Given the description of an element on the screen output the (x, y) to click on. 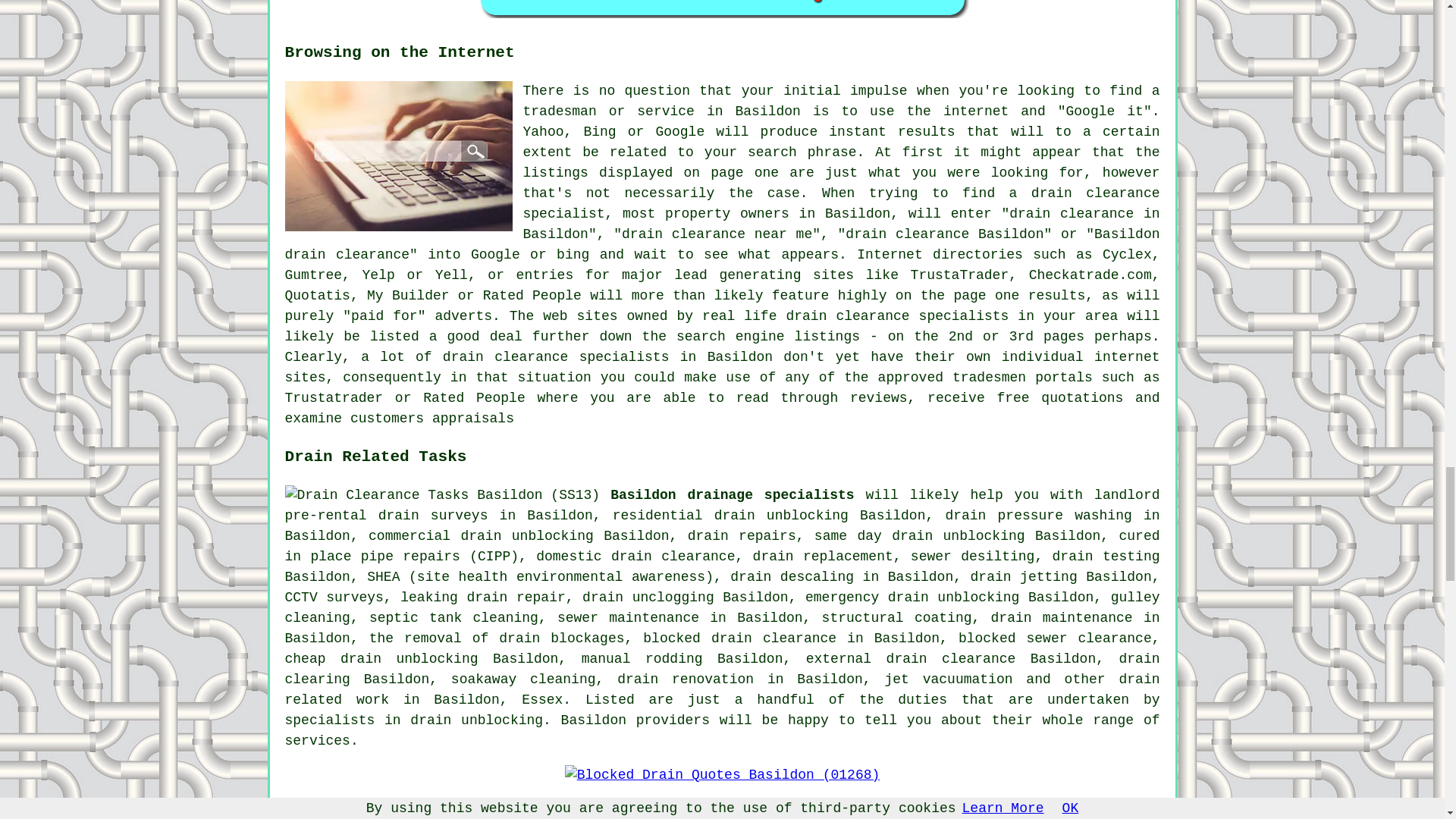
Search Engine Results Drain Clearance Basildon (398, 155)
external drain clearance (911, 658)
emergency drain unblocking (912, 597)
